Given the description of an element on the screen output the (x, y) to click on. 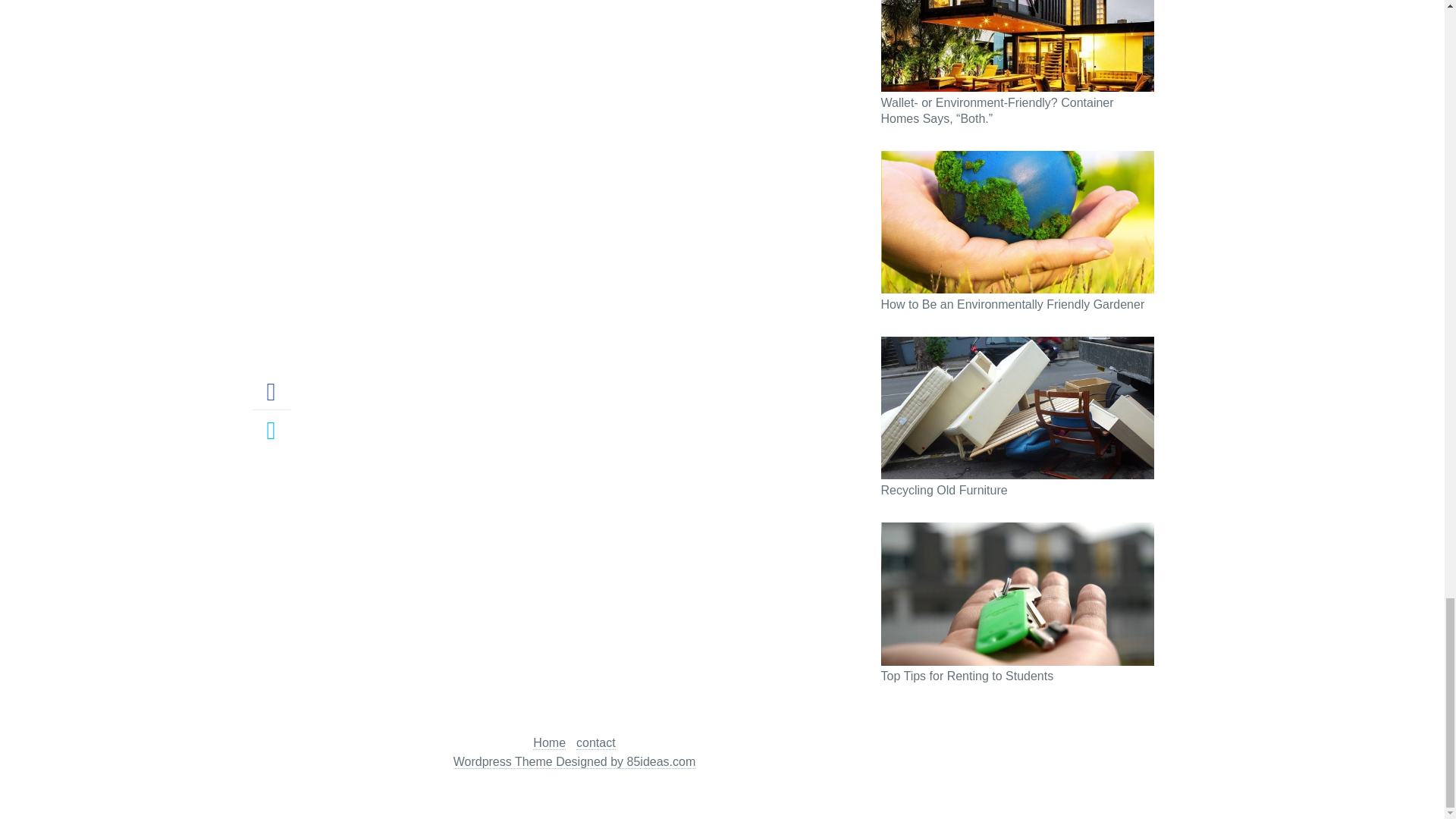
Themes for Wordpress (573, 762)
